Given the description of an element on the screen output the (x, y) to click on. 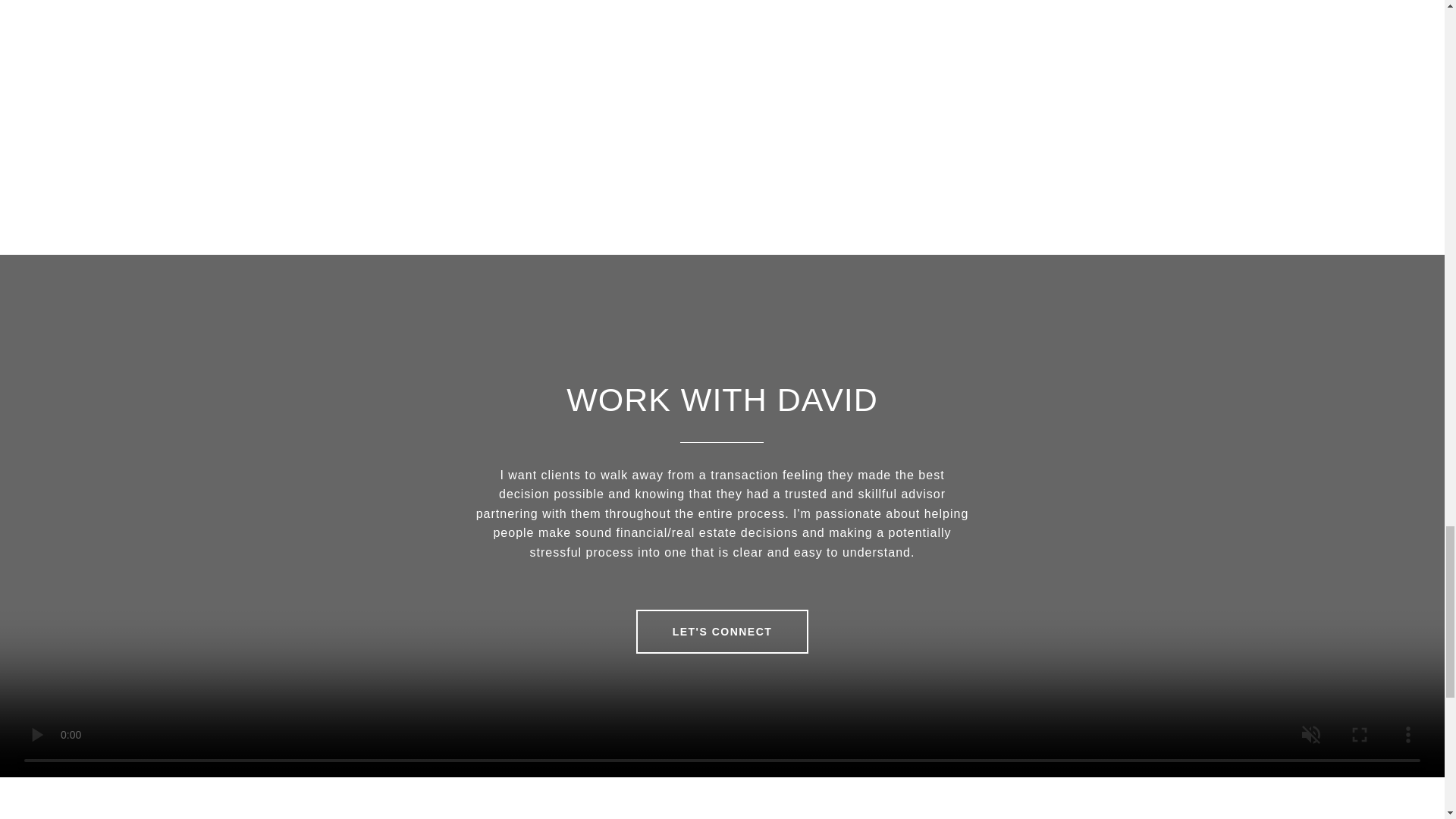
LET'S CONNECT (722, 631)
